Given the description of an element on the screen output the (x, y) to click on. 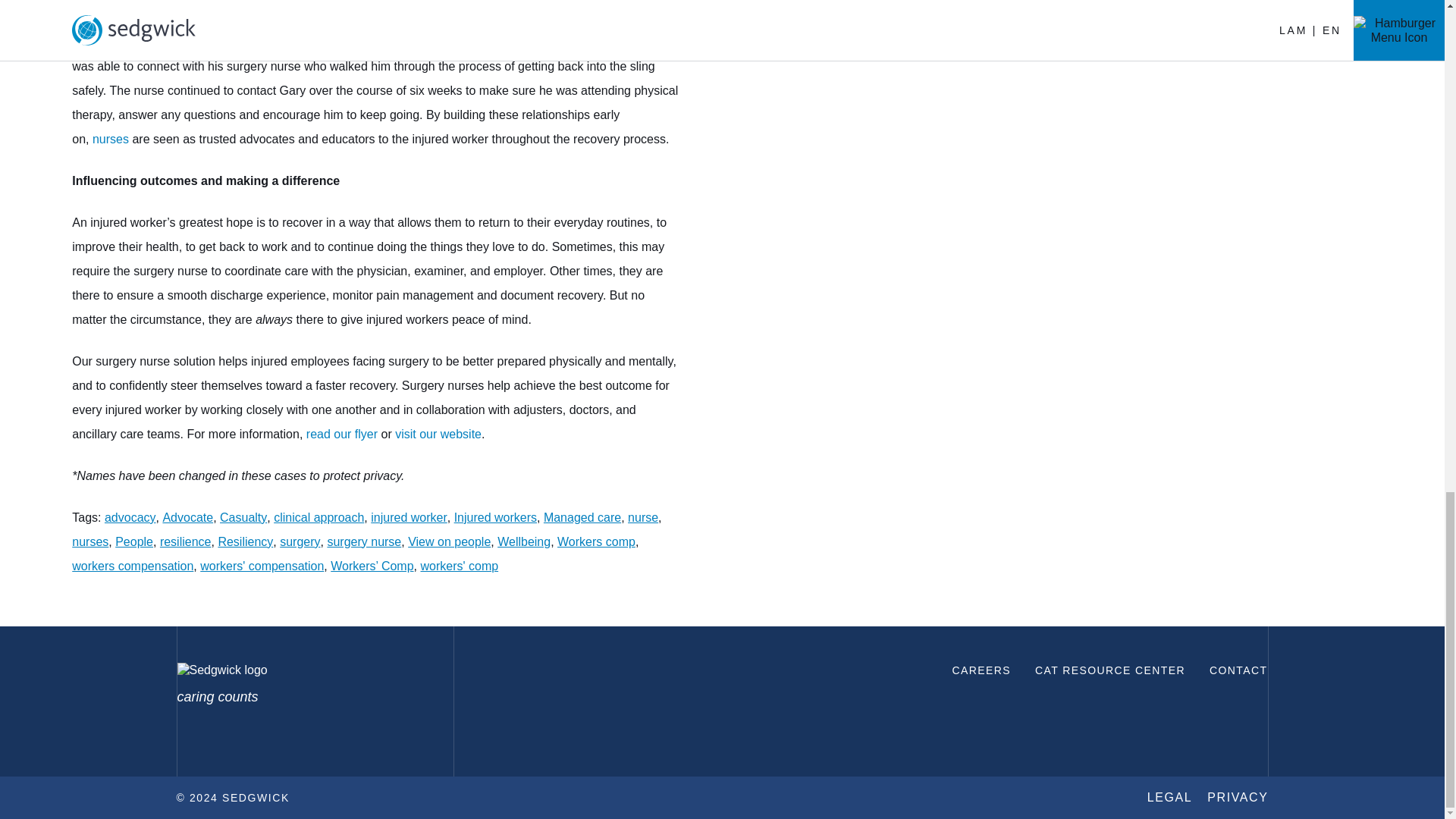
Careers (981, 669)
CAT resource center (1110, 669)
